Given the description of an element on the screen output the (x, y) to click on. 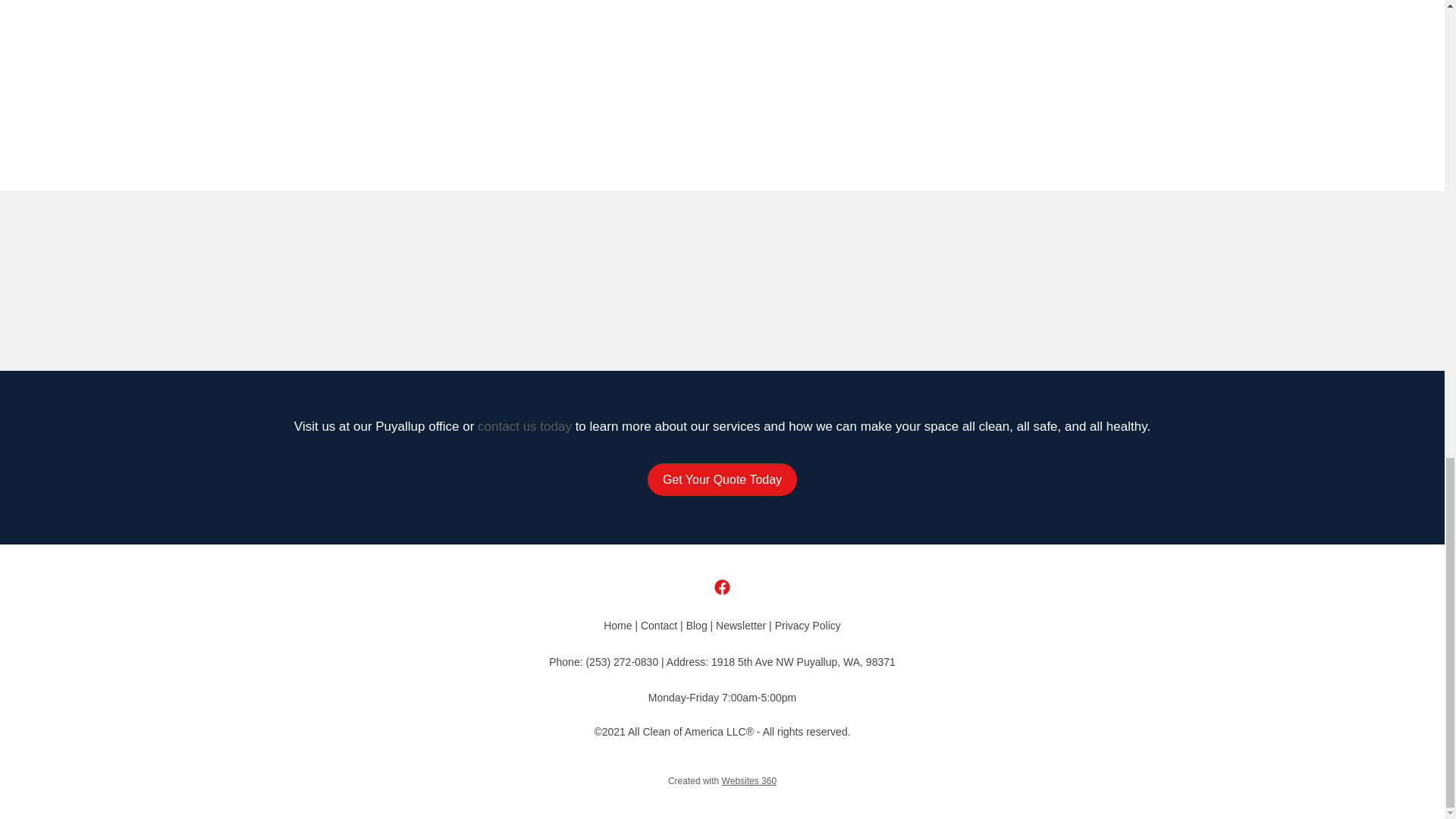
Privacy Policy (807, 625)
1918 5th Ave NW Puyallup, WA, 98371 (803, 662)
Get Your Quote Today (721, 479)
contact us today (524, 426)
Blog (696, 625)
Created with Websites 360 (722, 780)
Home (617, 625)
Newsletter (740, 625)
Contact (658, 625)
